Given the description of an element on the screen output the (x, y) to click on. 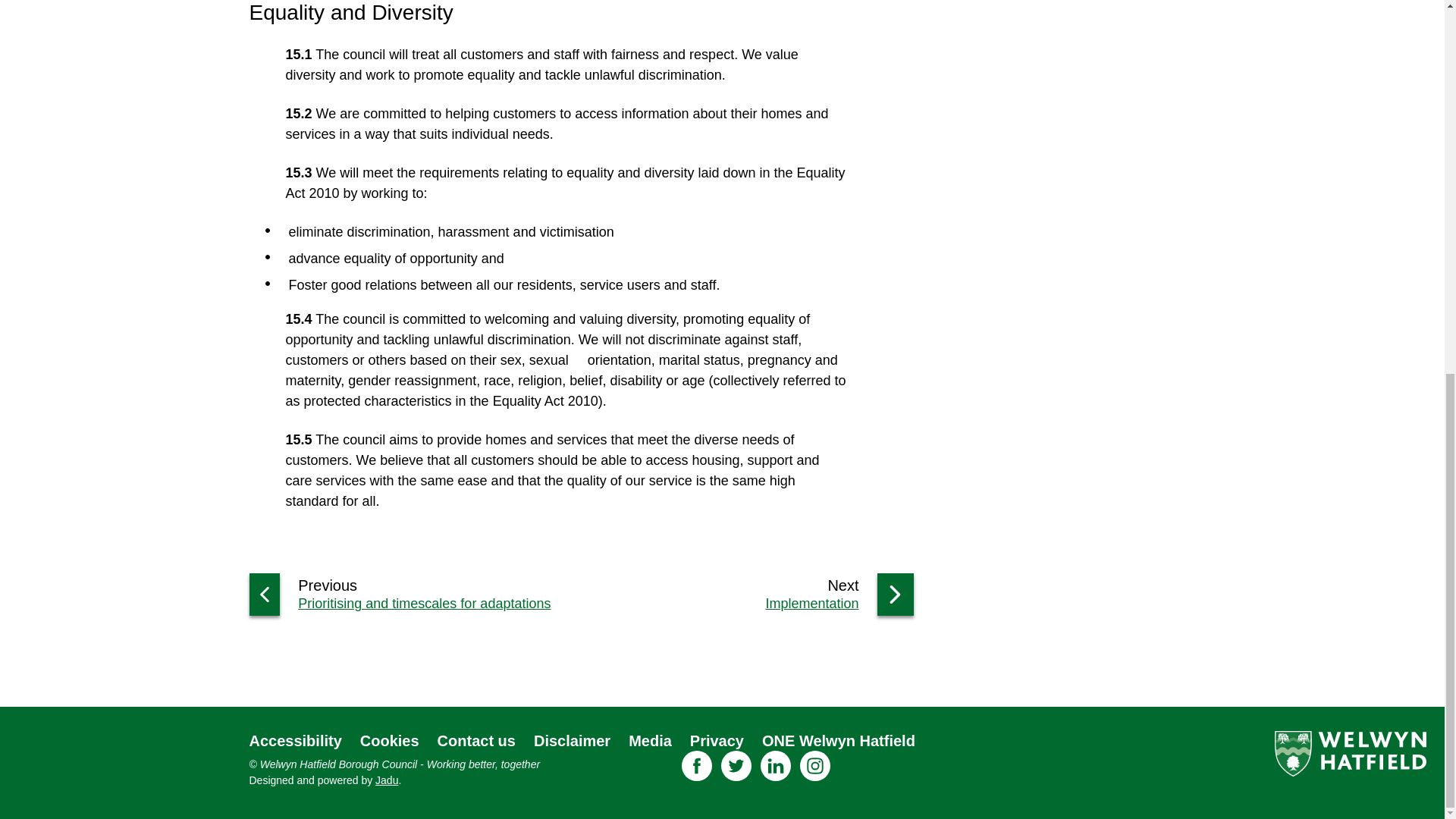
Follow us on Instagram (814, 766)
Follow us on X (735, 766)
Follow us on Facebook (696, 766)
Visit the Jadu website (386, 779)
Follow us on Linkedin (775, 766)
